Given the description of an element on the screen output the (x, y) to click on. 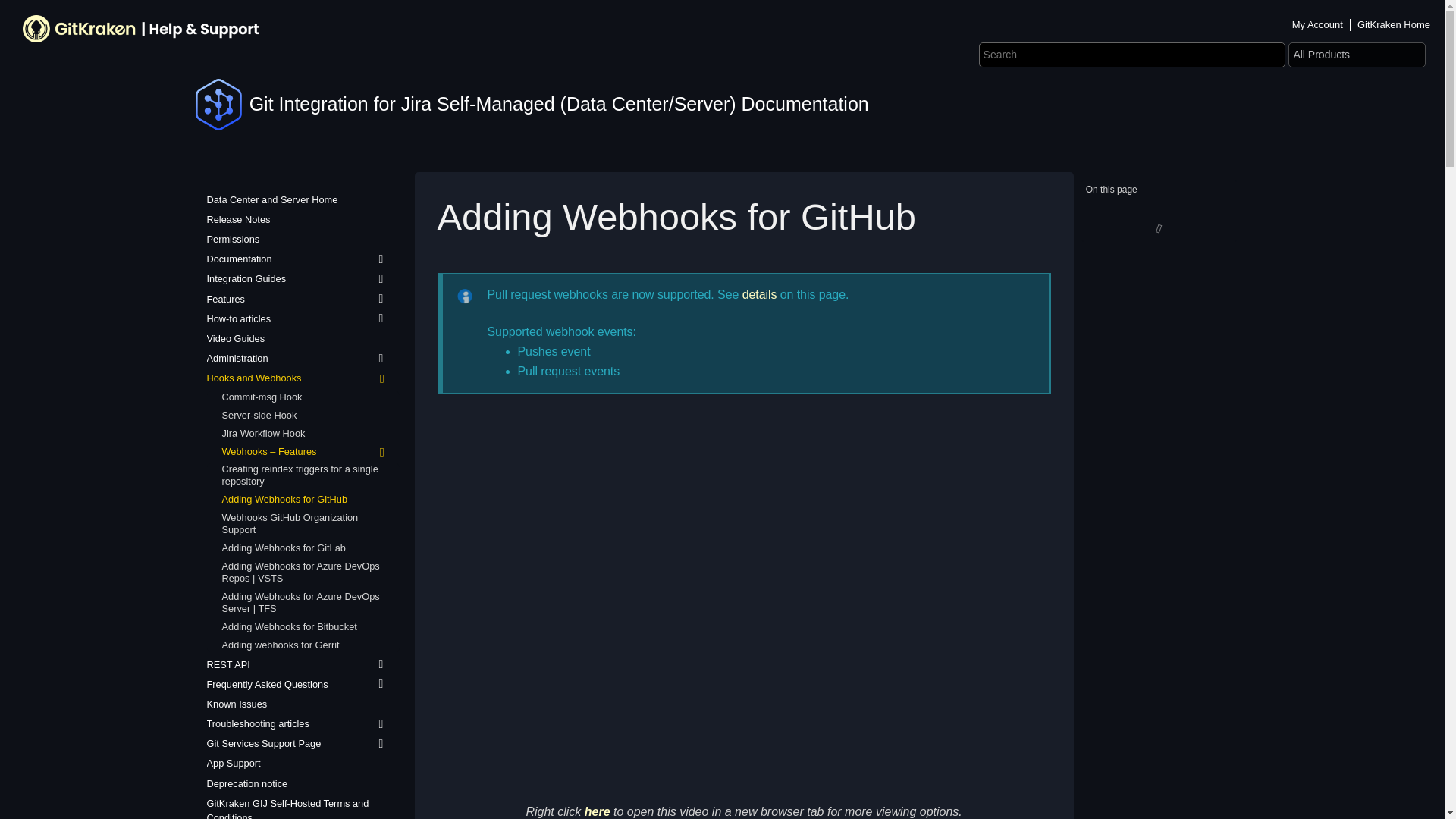
Search (21, 11)
GitKraken Home (1394, 24)
My Account (1317, 24)
